Given the description of an element on the screen output the (x, y) to click on. 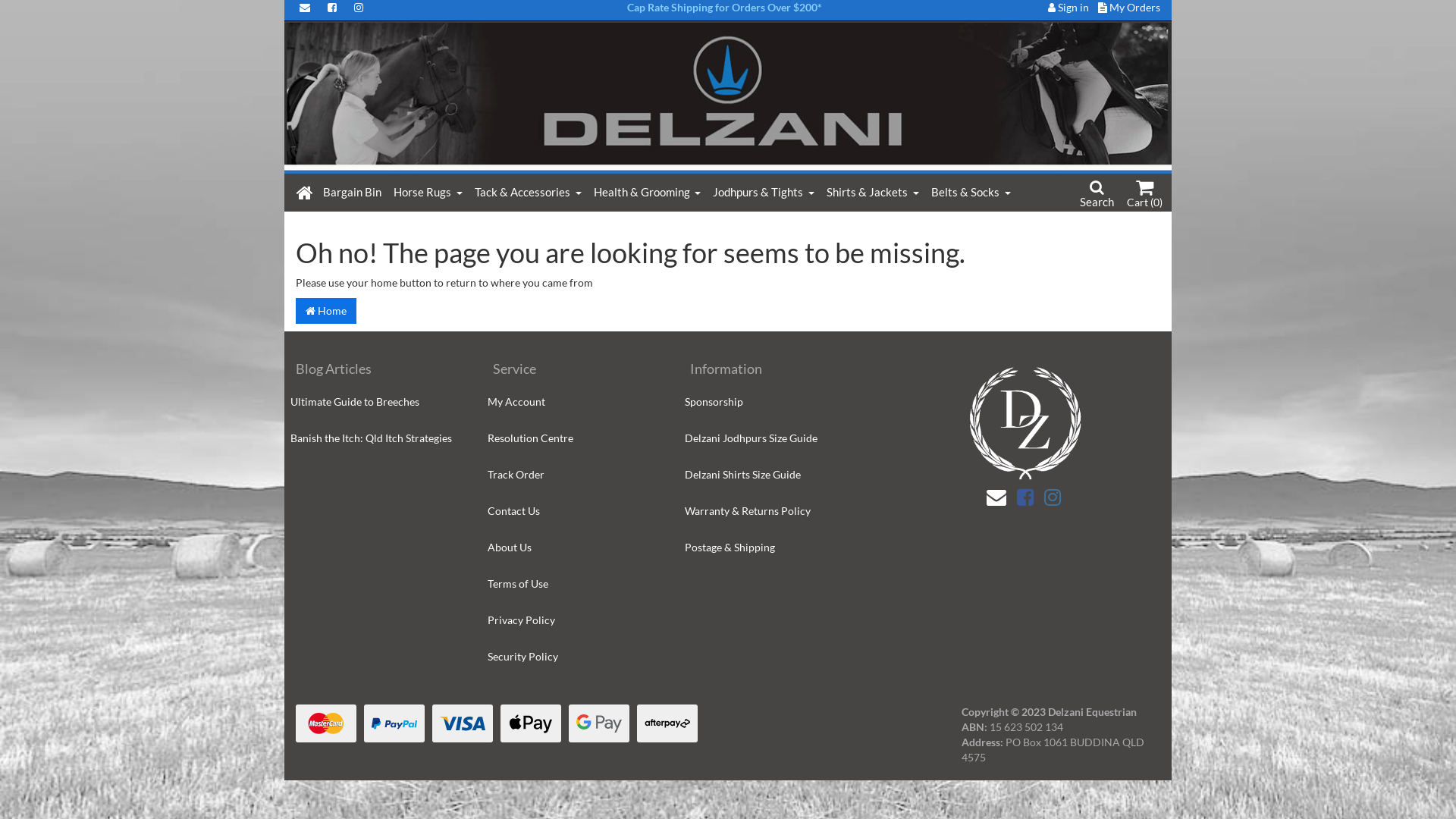
Facebook Element type: text (1024, 496)
Sponsorship Element type: text (771, 401)
Health & Grooming Element type: text (647, 191)
Terms of Use Element type: text (574, 583)
Track Order Element type: text (574, 474)
Contact Us Element type: text (574, 510)
Security Policy Element type: text (574, 656)
Instagram Element type: text (1052, 496)
 Sign in Element type: text (1068, 6)
Delzani Shirts Size Guide Element type: text (771, 474)
Jodhpurs & Tights Element type: text (763, 191)
Cart (0) Element type: text (1144, 195)
Ultimate Guide to Breeches Element type: text (377, 401)
My Account Element type: text (574, 401)
Horse Rugs Element type: text (427, 191)
Banish the Itch: Qld Itch Strategies Element type: text (377, 437)
Belts & Socks Element type: text (970, 191)
Bargain Bin Element type: text (351, 191)
Privacy Policy Element type: text (574, 619)
Skip to main content Element type: text (962, 20)
About Us Element type: text (574, 547)
Shirts & Jackets Element type: text (872, 191)
Warranty & Returns Policy Element type: text (771, 510)
Delzani Jodhpurs Size Guide Element type: text (771, 437)
Resolution Centre Element type: text (574, 437)
Tack & Accessories Element type: text (527, 191)
Postage & Shipping Element type: text (771, 547)
Cap Rate Shipping for Orders Over $200* Element type: text (723, 6)
Email us Element type: hover (996, 496)
 My Orders Element type: text (1129, 6)
Home Element type: text (325, 310)
Search Element type: text (1096, 193)
